Given the description of an element on the screen output the (x, y) to click on. 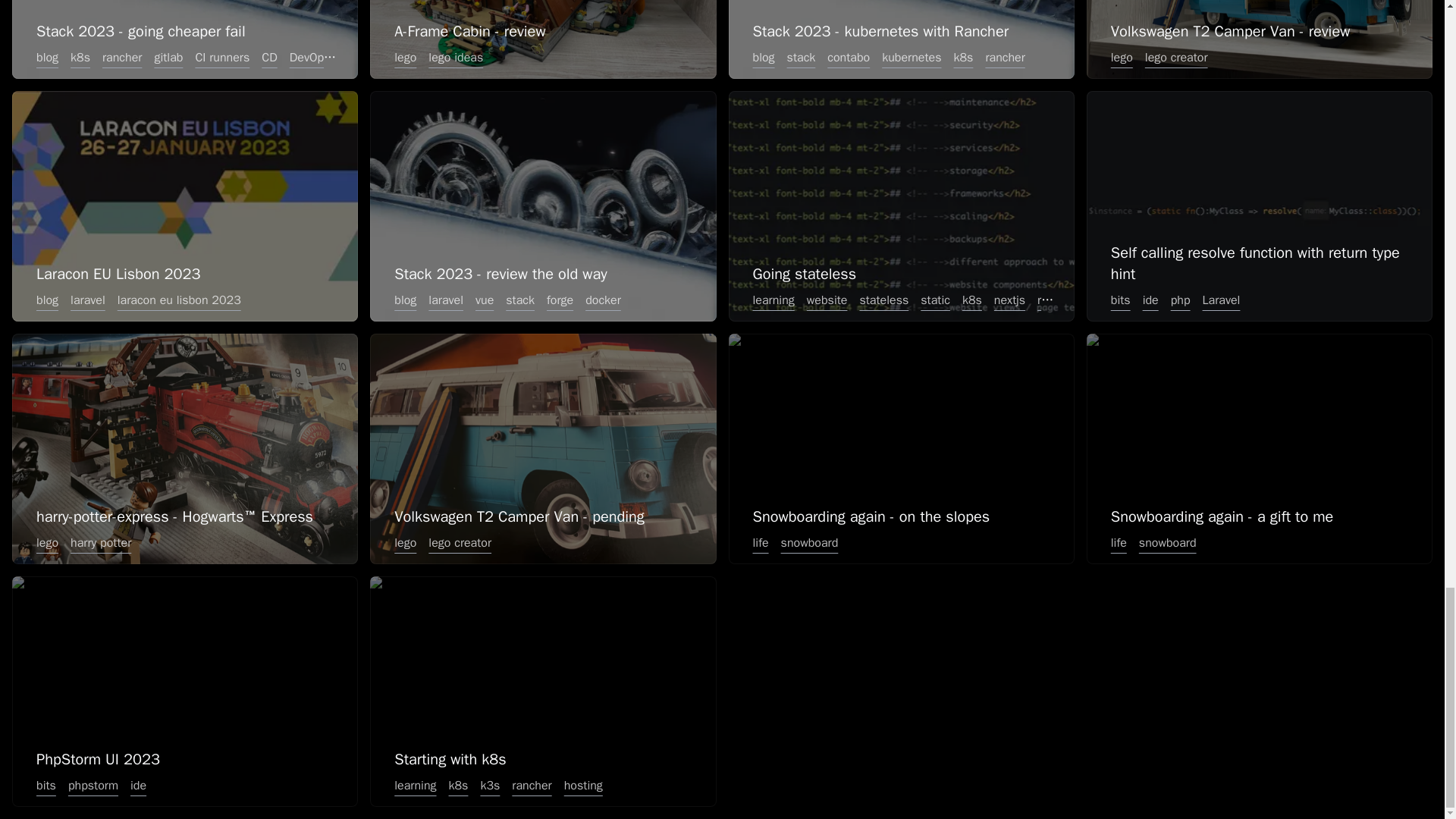
website (826, 299)
kubernetes (911, 57)
lego creator (1176, 57)
rancher (1004, 57)
laracon eu lisbon 2023 (179, 299)
docker (603, 299)
blog (405, 299)
blog (47, 299)
blog (762, 57)
laravel (88, 299)
